Given the description of an element on the screen output the (x, y) to click on. 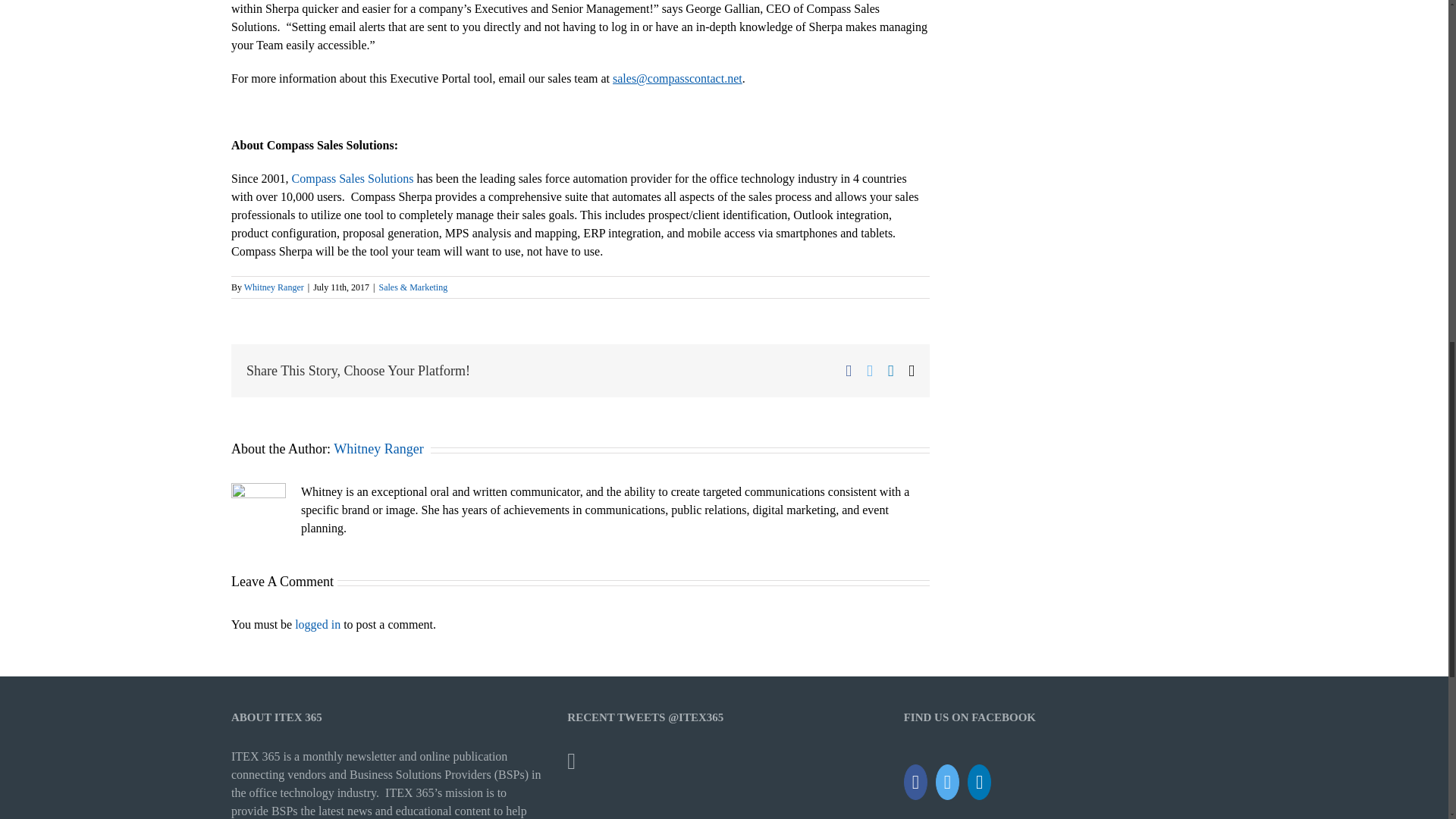
Whitney Ranger (378, 448)
Compass Sales Solutions (352, 178)
Posts by Whitney Ranger (274, 286)
Posts by Whitney Ranger (378, 448)
Whitney Ranger (274, 286)
